Given the description of an element on the screen output the (x, y) to click on. 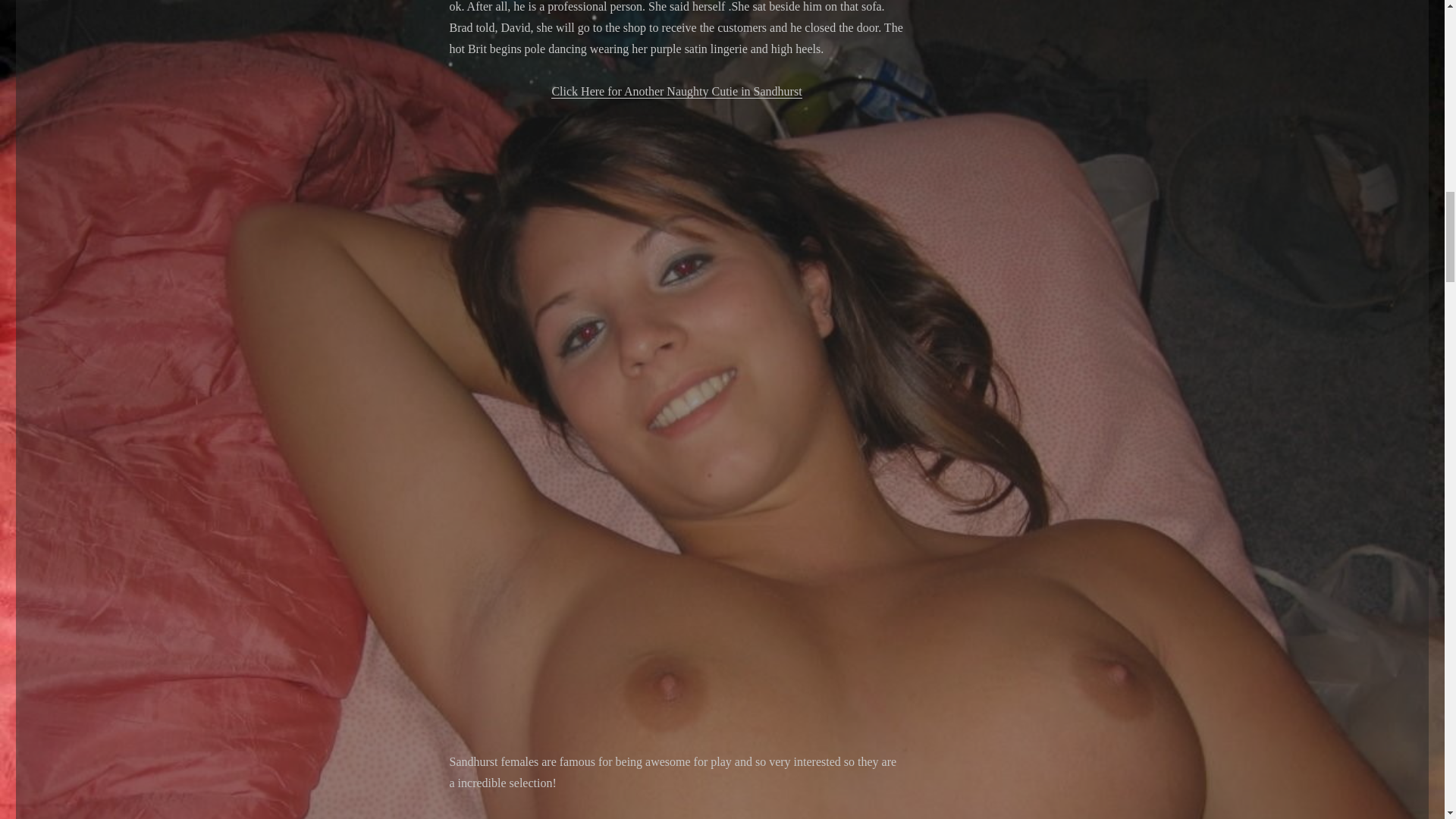
Click Here for Another Naughty Cutie in Sandhurst (676, 91)
